Given the description of an element on the screen output the (x, y) to click on. 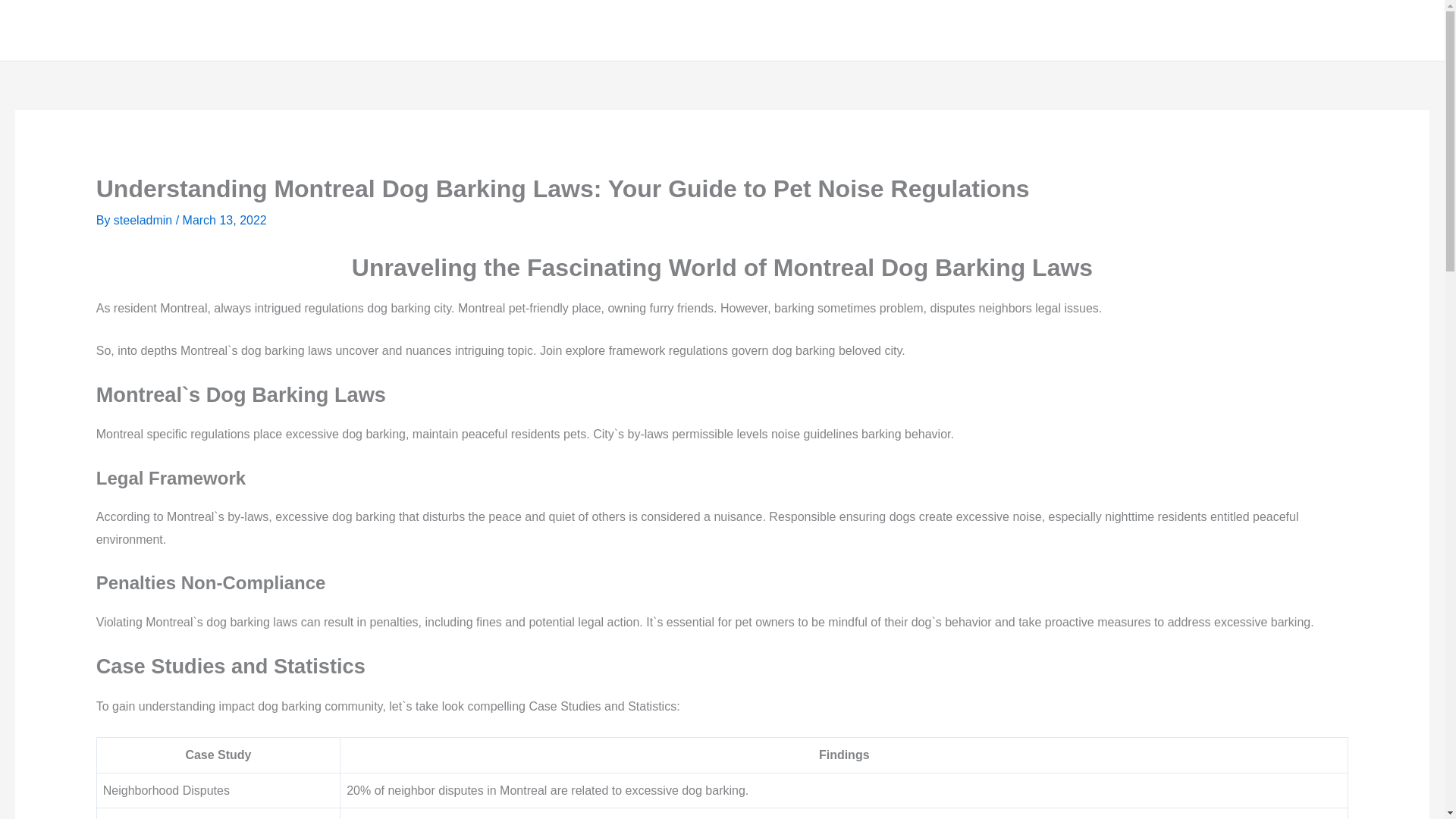
View all posts by steeladmin (144, 219)
steeladmin (144, 219)
